Given the description of an element on the screen output the (x, y) to click on. 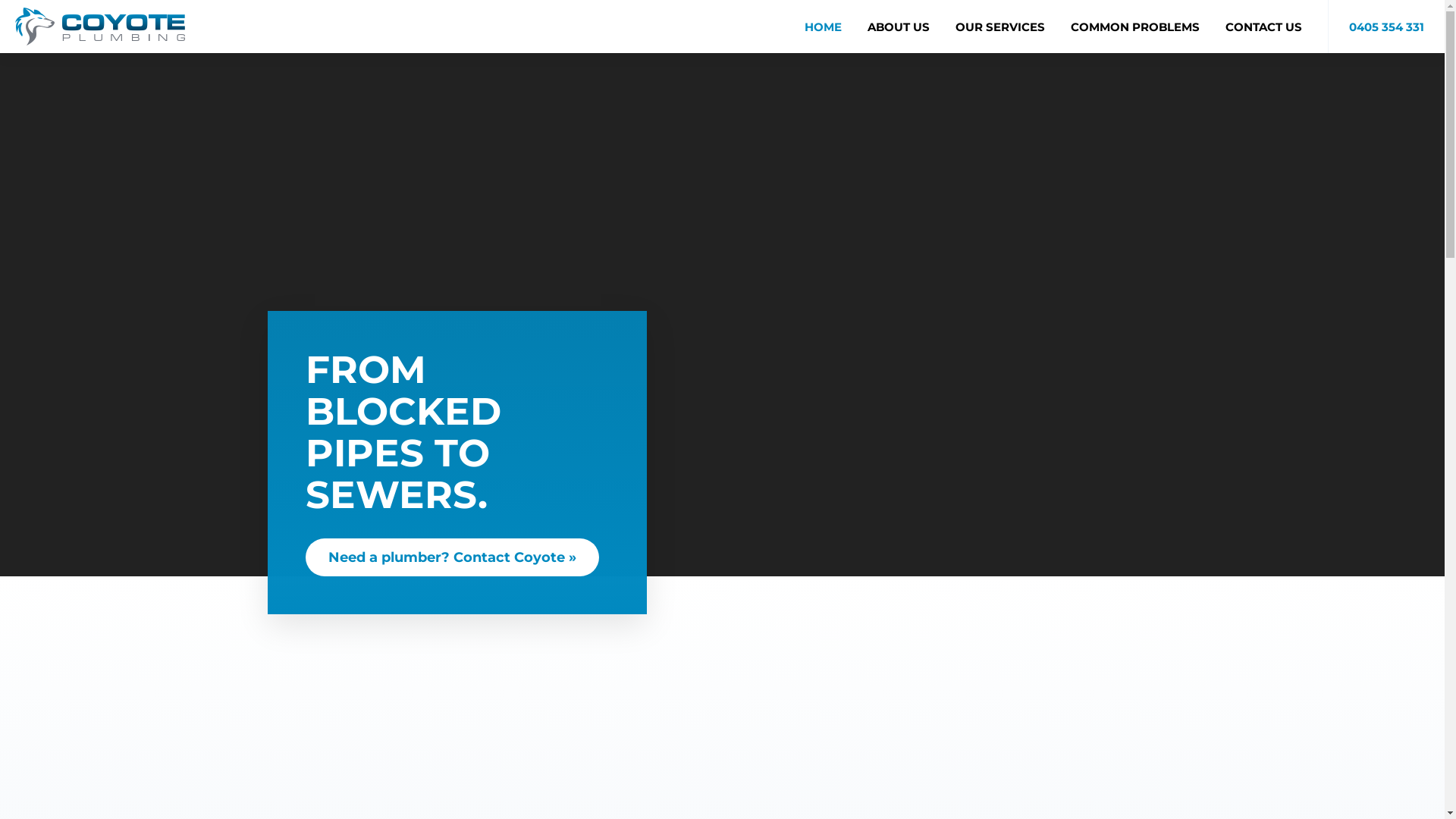
HOME Element type: text (823, 26)
CONTACT US Element type: text (1263, 26)
OUR SERVICES Element type: text (1000, 26)
0405 354 331 Element type: text (1385, 26)
ABOUT US Element type: text (898, 26)
COMMON PROBLEMS Element type: text (1135, 26)
